Given the description of an element on the screen output the (x, y) to click on. 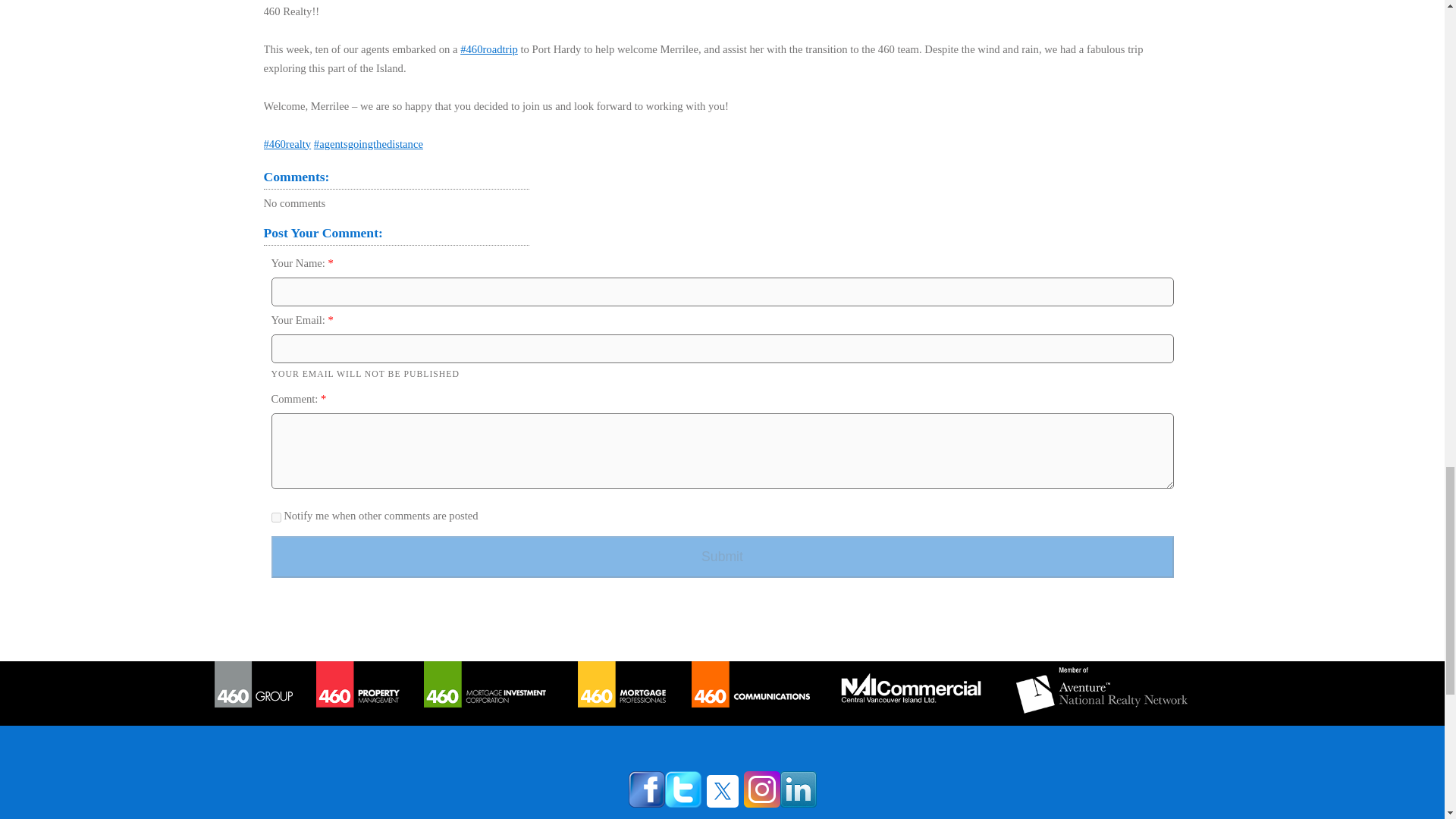
Notify me when other comments are posted (275, 517)
